Given the description of an element on the screen output the (x, y) to click on. 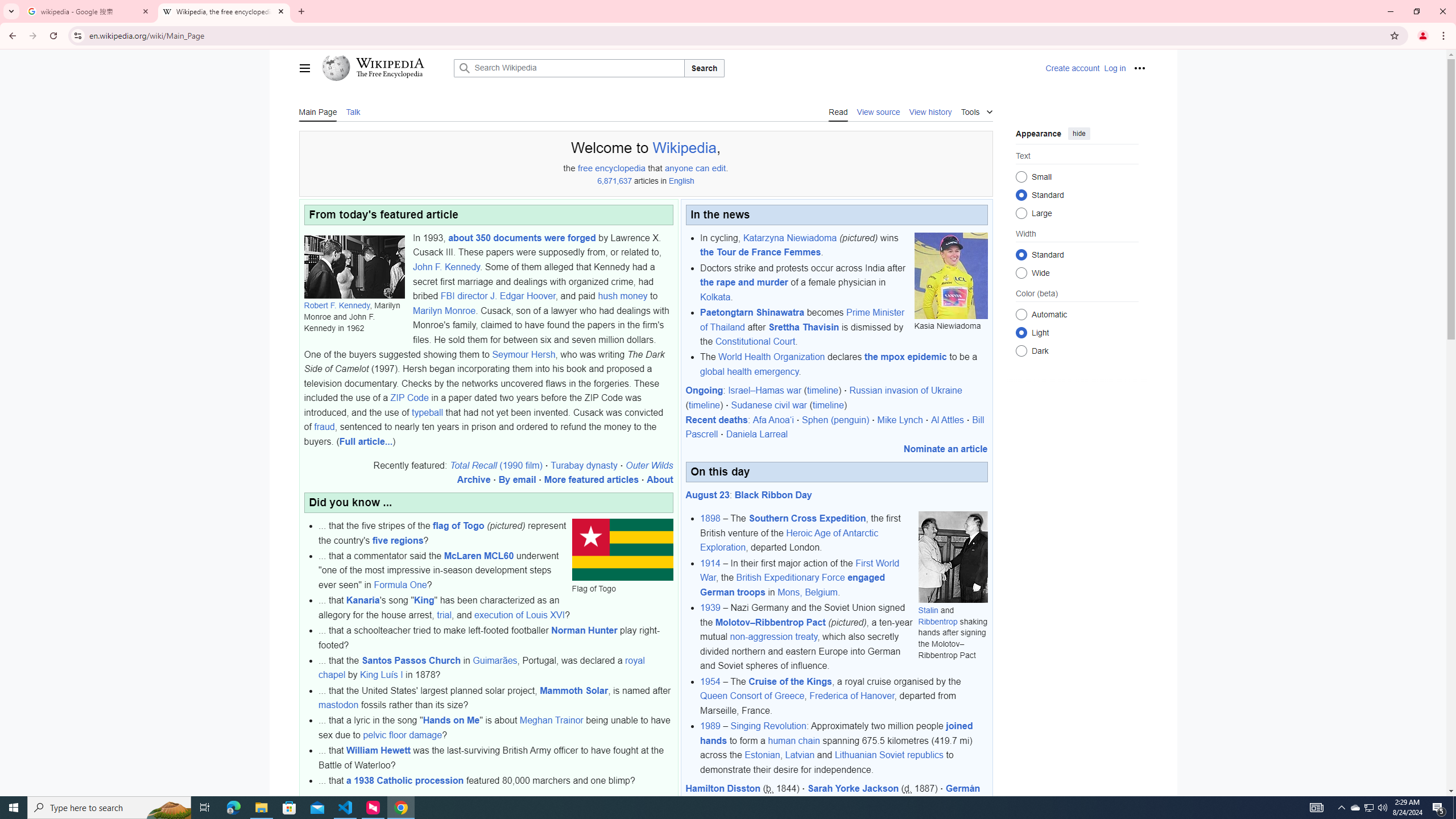
Turabay dynasty (583, 465)
British Expeditionary Force (789, 577)
Large (1020, 212)
Hands on Me (451, 720)
1939 (710, 607)
the rape and murder (743, 282)
The Free Encyclopedia (389, 74)
Wikipedia (389, 62)
AutomationID: pt-login-2 (1114, 67)
Srettha Thavisin (803, 326)
non-aggression treaty (773, 637)
Flag of Togo (622, 549)
